Given the description of an element on the screen output the (x, y) to click on. 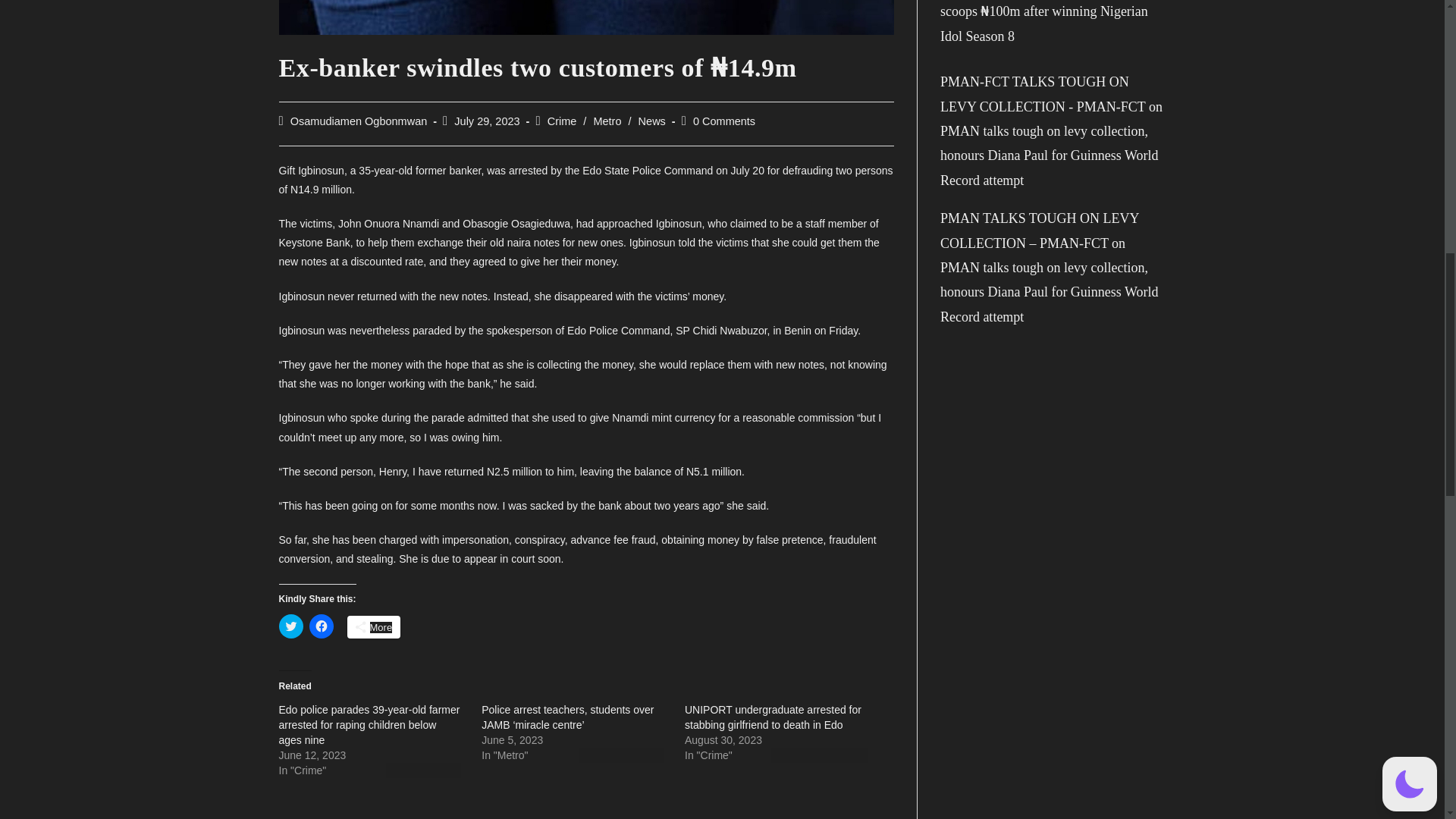
Click to share on Facebook (320, 626)
Posts by Osamudiamen Ogbonmwan (358, 121)
Click to share on Twitter (290, 626)
